Given the description of an element on the screen output the (x, y) to click on. 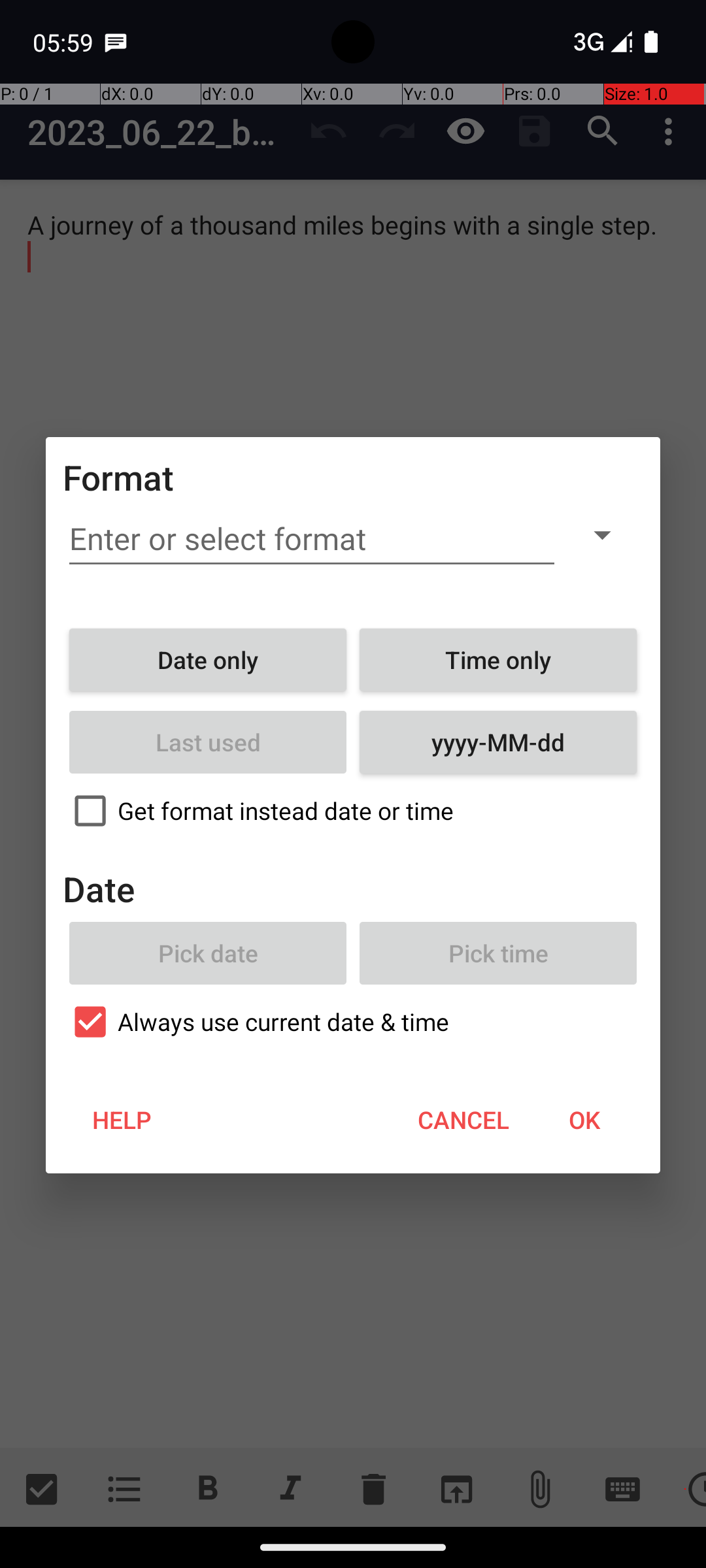
05:59 Element type: android.widget.TextView (64, 41)
